Given the description of an element on the screen output the (x, y) to click on. 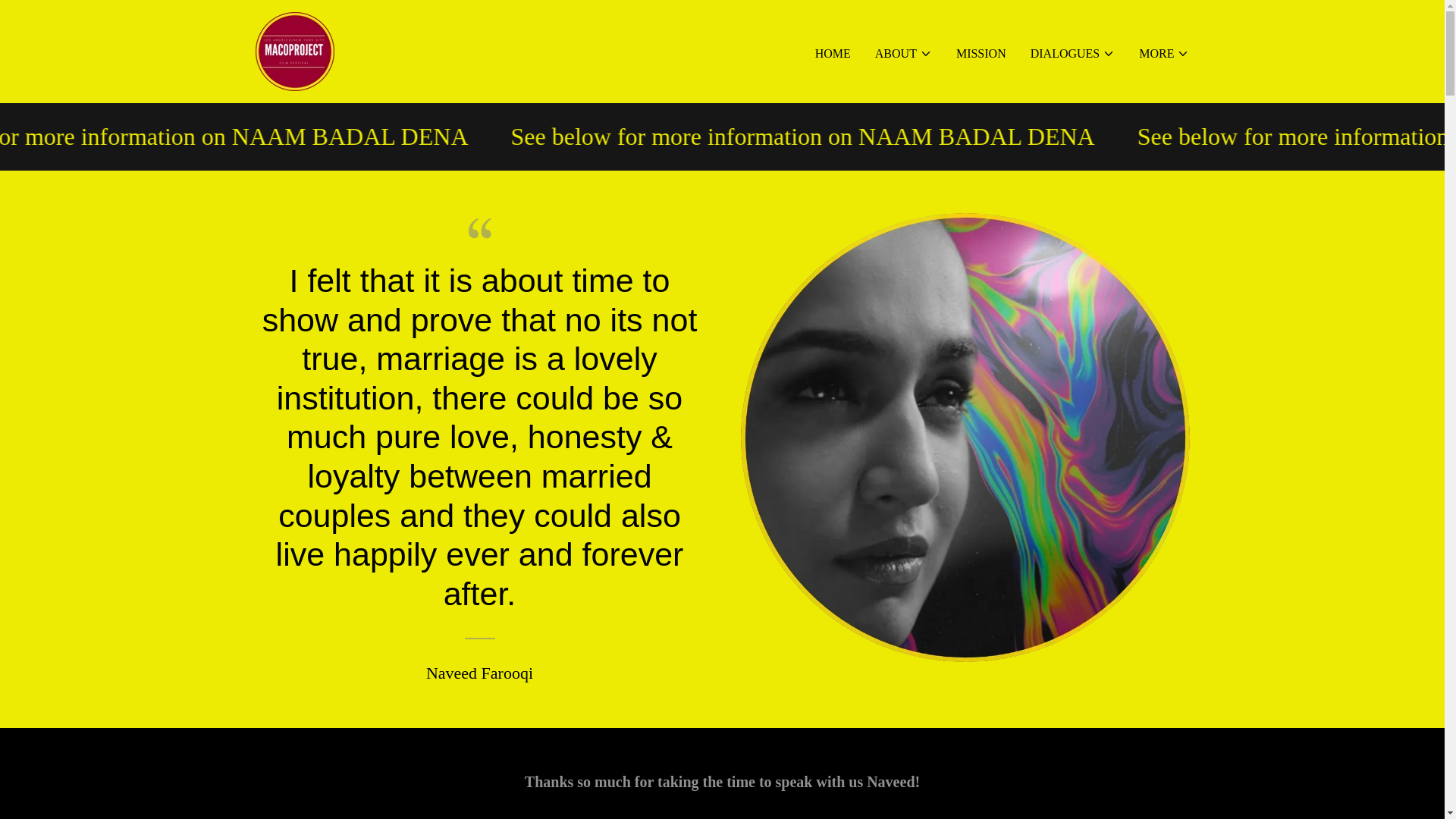
Macoproject (293, 50)
ABOUT (903, 53)
HOME (833, 52)
DIALOGUES (1072, 53)
MISSION (981, 52)
MORE (1163, 53)
